Given the description of an element on the screen output the (x, y) to click on. 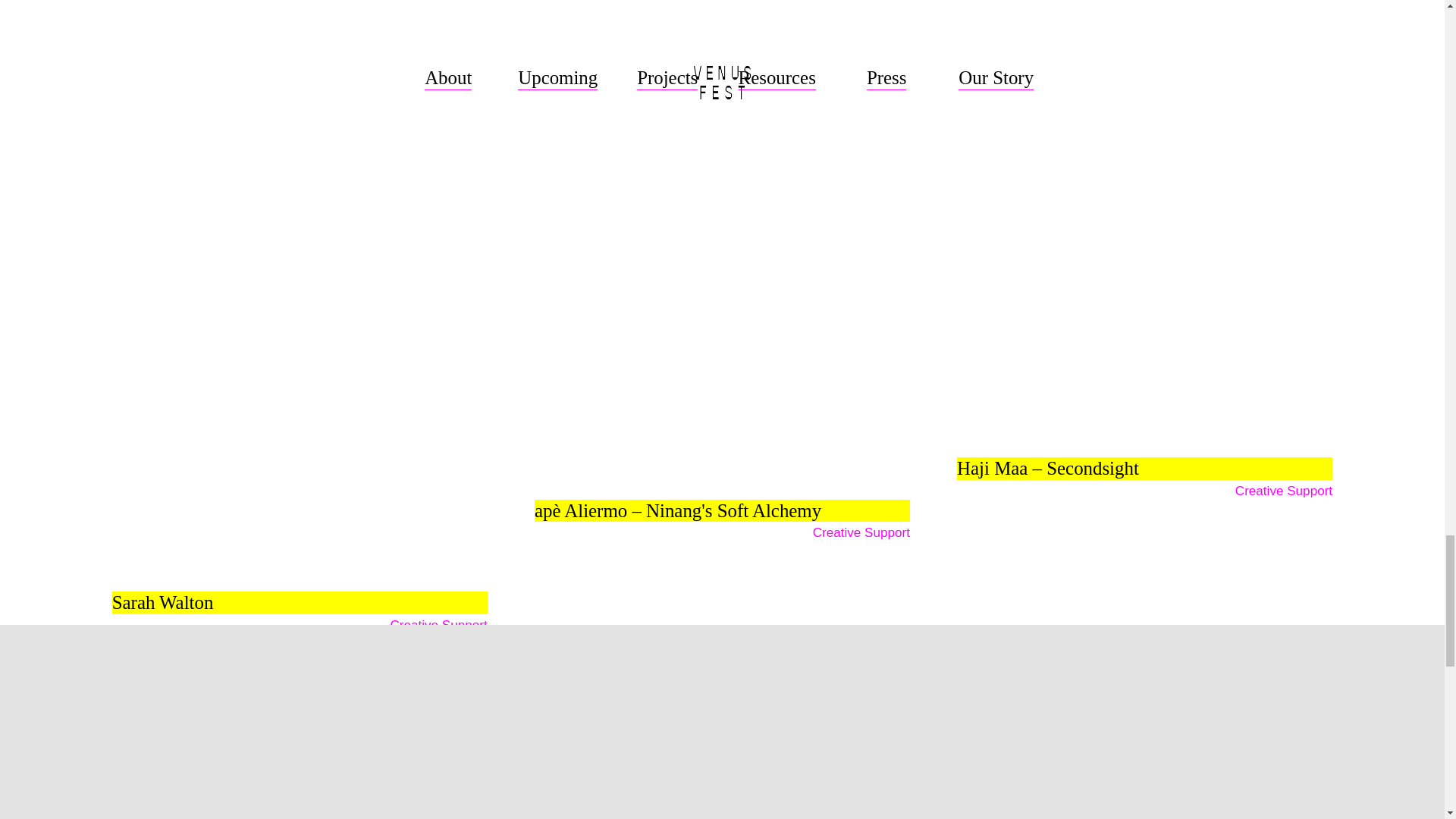
Workshop Facilitator (427, 12)
Creative Support (861, 138)
Creative Support (438, 625)
Creative Support (861, 532)
